Given the description of an element on the screen output the (x, y) to click on. 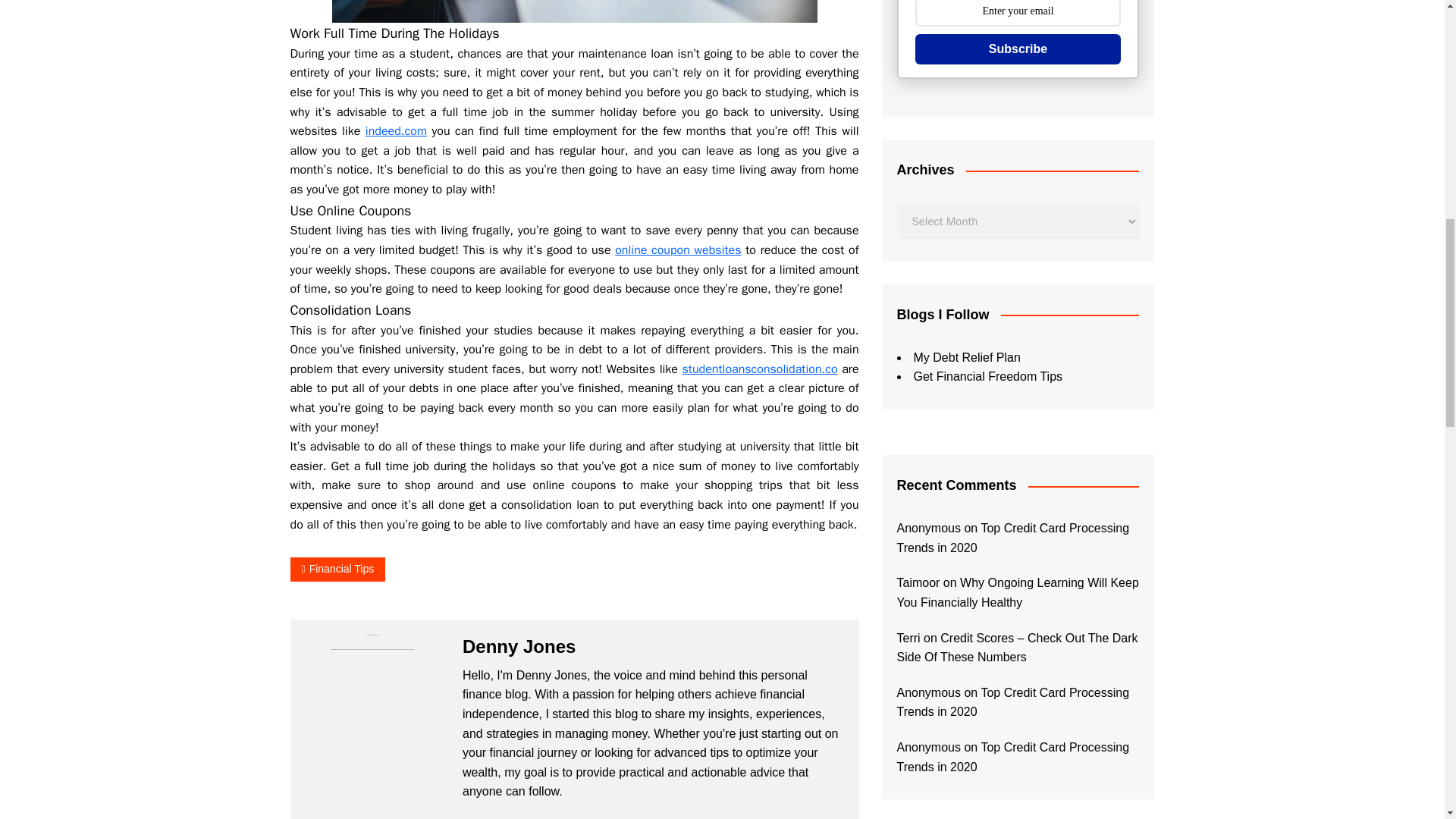
Financial Tips (337, 568)
Being A Student And Managing Your Finances (573, 11)
studentloansconsolidation.co (760, 368)
online coupon websites (677, 249)
indeed.com (395, 130)
